Given the description of an element on the screen output the (x, y) to click on. 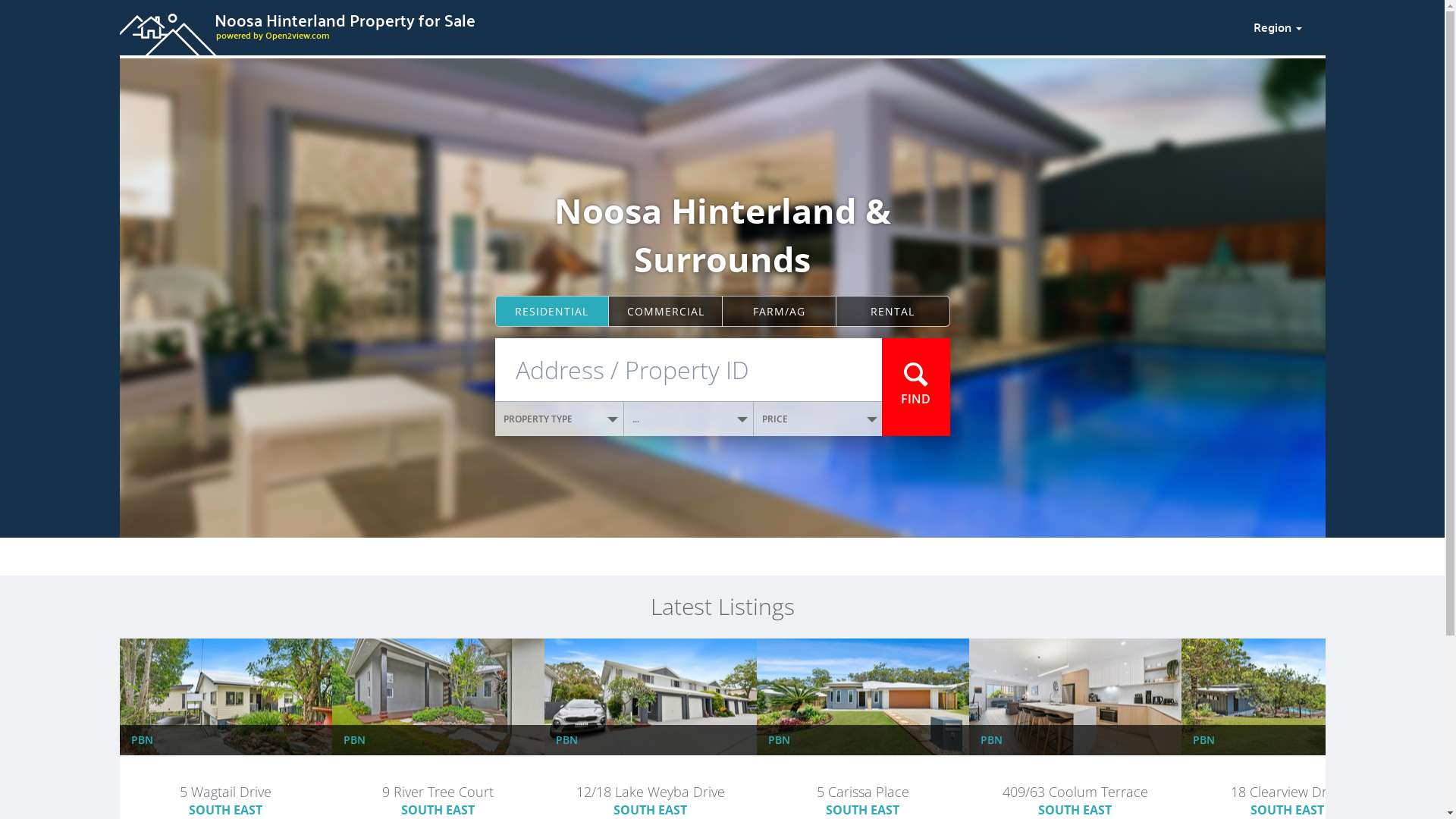
Property #853536 Element type: hover (437, 775)
Noosa Hinterland Property for Sale
powered by Open2view.com Element type: text (676, 25)
PROPERTY TYPE Element type: text (559, 418)
Property #852753 Element type: hover (1286, 775)
PRICE Element type: text (817, 418)
... Element type: text (688, 418)
Property #853027 Element type: hover (862, 775)
Property #853028 Element type: hover (1074, 775)
Property #854262 Element type: hover (225, 775)
Property #853329 Element type: hover (649, 775)
